Given the description of an element on the screen output the (x, y) to click on. 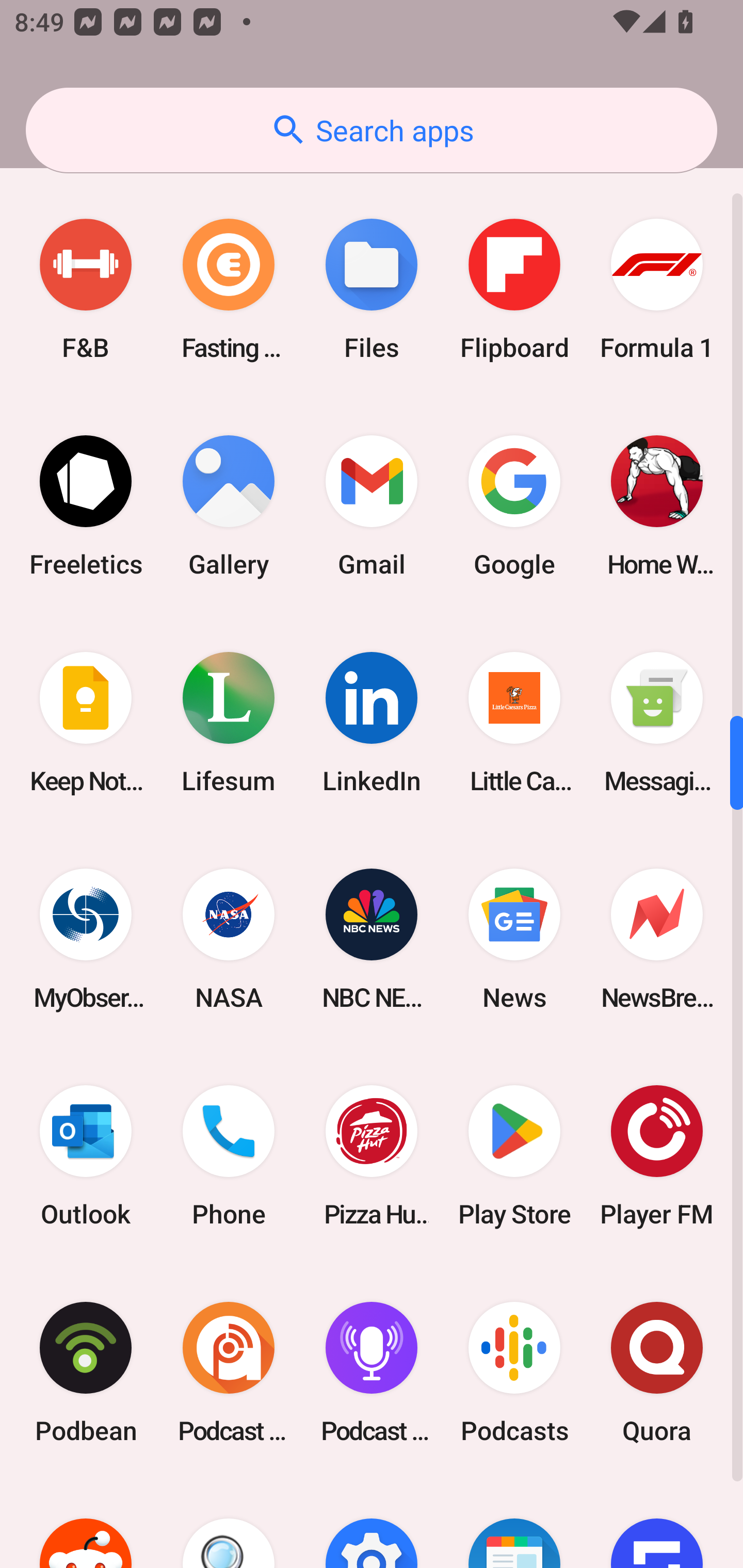
  Search apps (371, 130)
F&B (85, 289)
Fasting Coach (228, 289)
Files (371, 289)
Flipboard (514, 289)
Formula 1 (656, 289)
Freeletics (85, 506)
Gallery (228, 506)
Gmail (371, 506)
Google (514, 506)
Home Workout (656, 506)
Keep Notes (85, 722)
Lifesum (228, 722)
LinkedIn (371, 722)
Little Caesars Pizza (514, 722)
Messaging (656, 722)
MyObservatory (85, 939)
NASA (228, 939)
NBC NEWS (371, 939)
News (514, 939)
NewsBreak (656, 939)
Outlook (85, 1155)
Phone (228, 1155)
Pizza Hut HK & Macau (371, 1155)
Play Store (514, 1155)
Player FM (656, 1155)
Podbean (85, 1371)
Podcast Addict (228, 1371)
Podcast Player (371, 1371)
Podcasts (514, 1371)
Quora (656, 1371)
Reddit (85, 1524)
Search (228, 1524)
Settings (371, 1524)
SmartNews (514, 1524)
Sofascore (656, 1524)
